Given the description of an element on the screen output the (x, y) to click on. 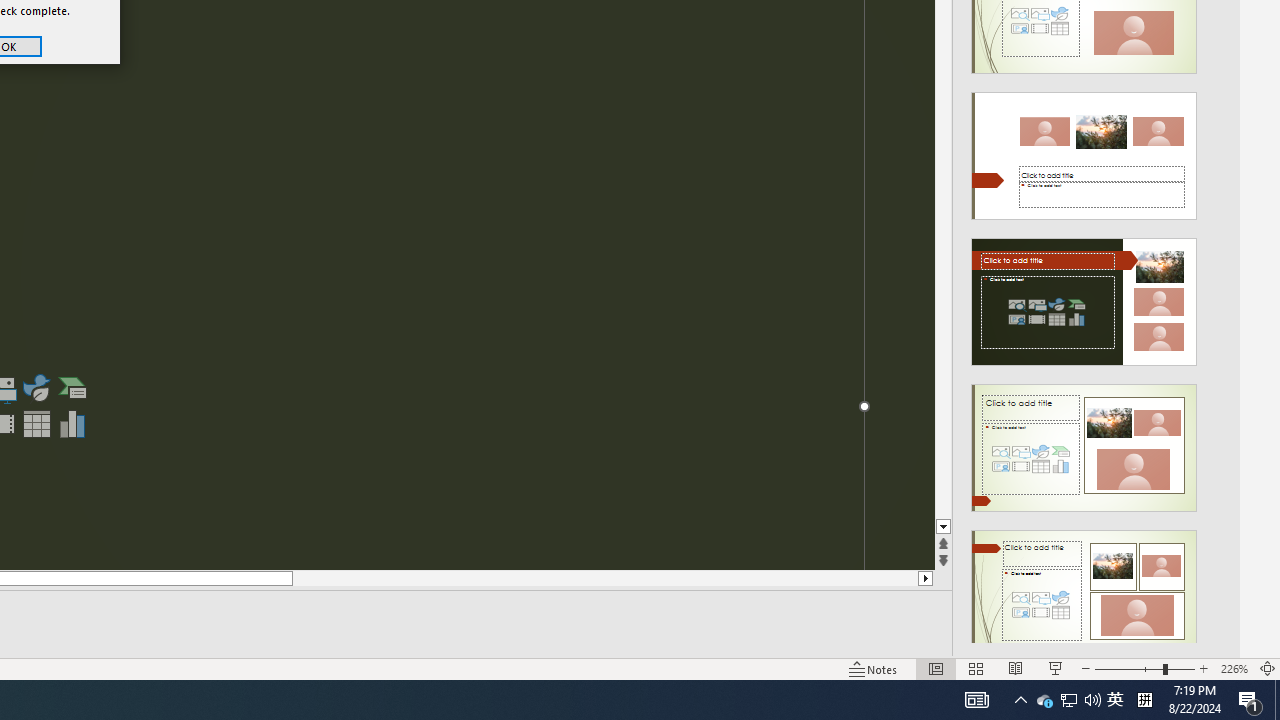
Insert Chart (73, 423)
Zoom 226% (1234, 668)
